Given the description of an element on the screen output the (x, y) to click on. 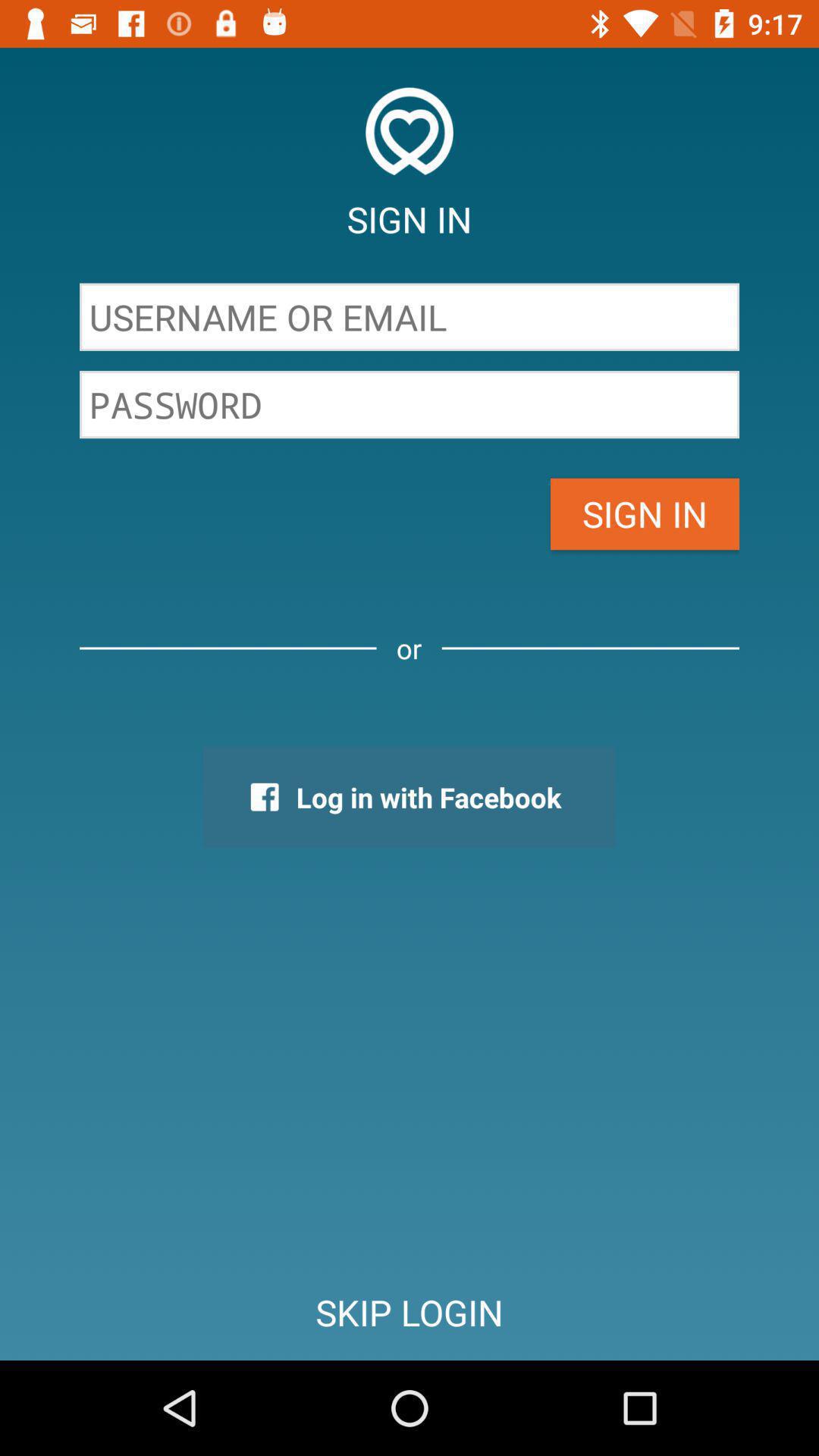
enter sign in info (409, 316)
